Given the description of an element on the screen output the (x, y) to click on. 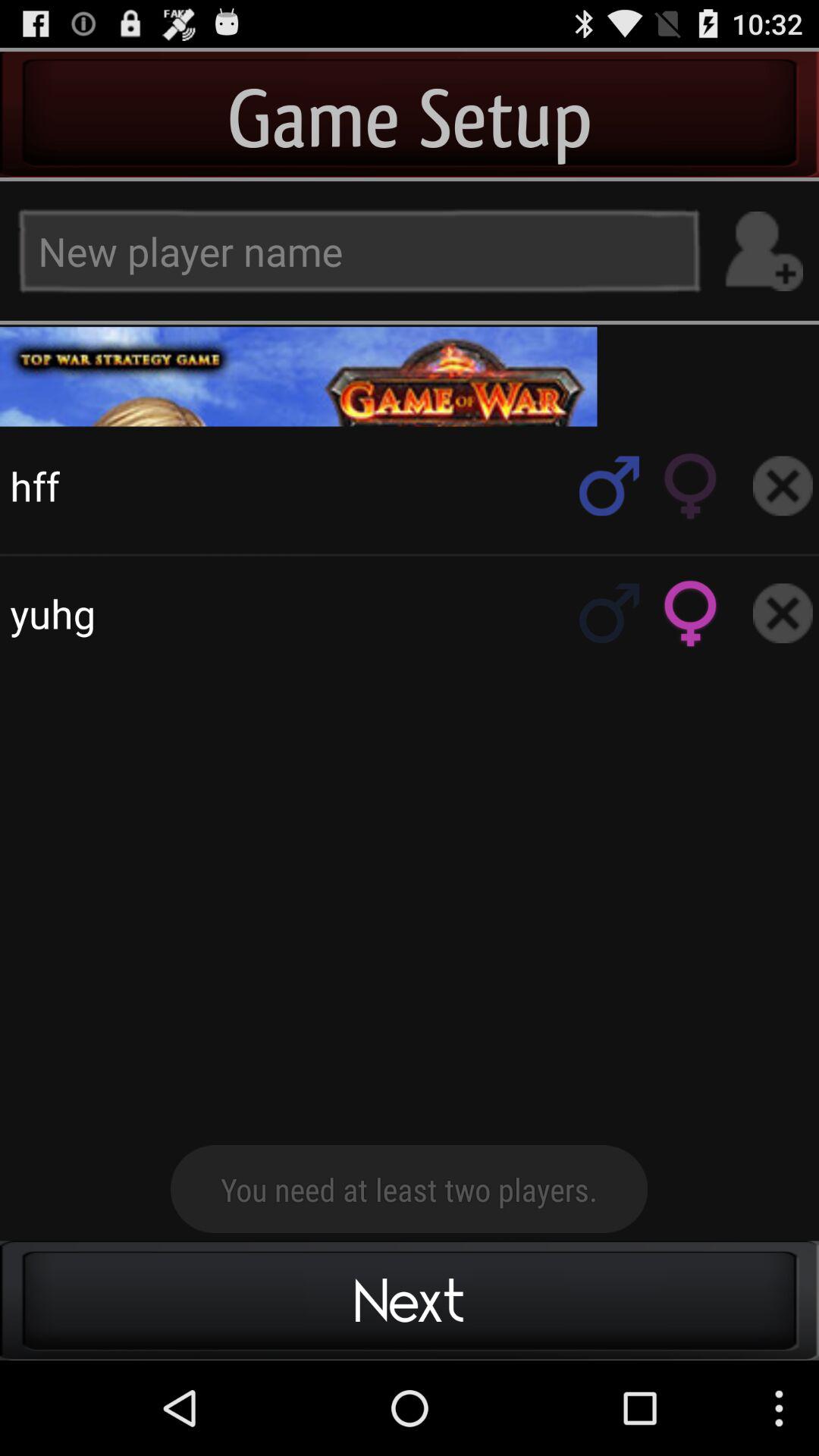
select male gender (609, 613)
